Given the description of an element on the screen output the (x, y) to click on. 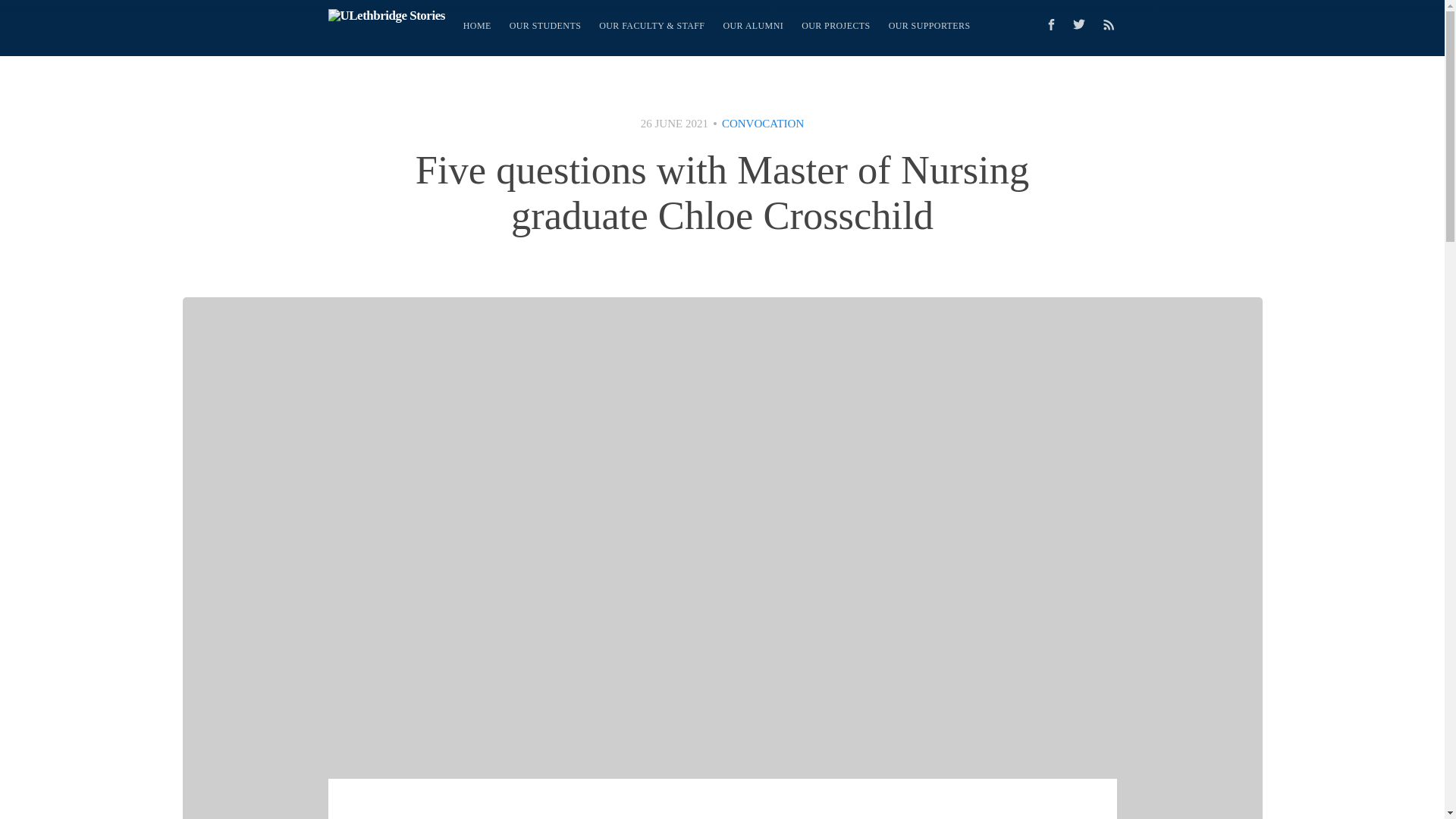
OUR STUDENTS (544, 25)
OUR PROJECTS (835, 25)
CONVOCATION (762, 123)
Facebook (1050, 23)
OUR SUPPORTERS (929, 25)
HOME (477, 25)
OUR ALUMNI (752, 25)
Twitter (1082, 23)
